Given the description of an element on the screen output the (x, y) to click on. 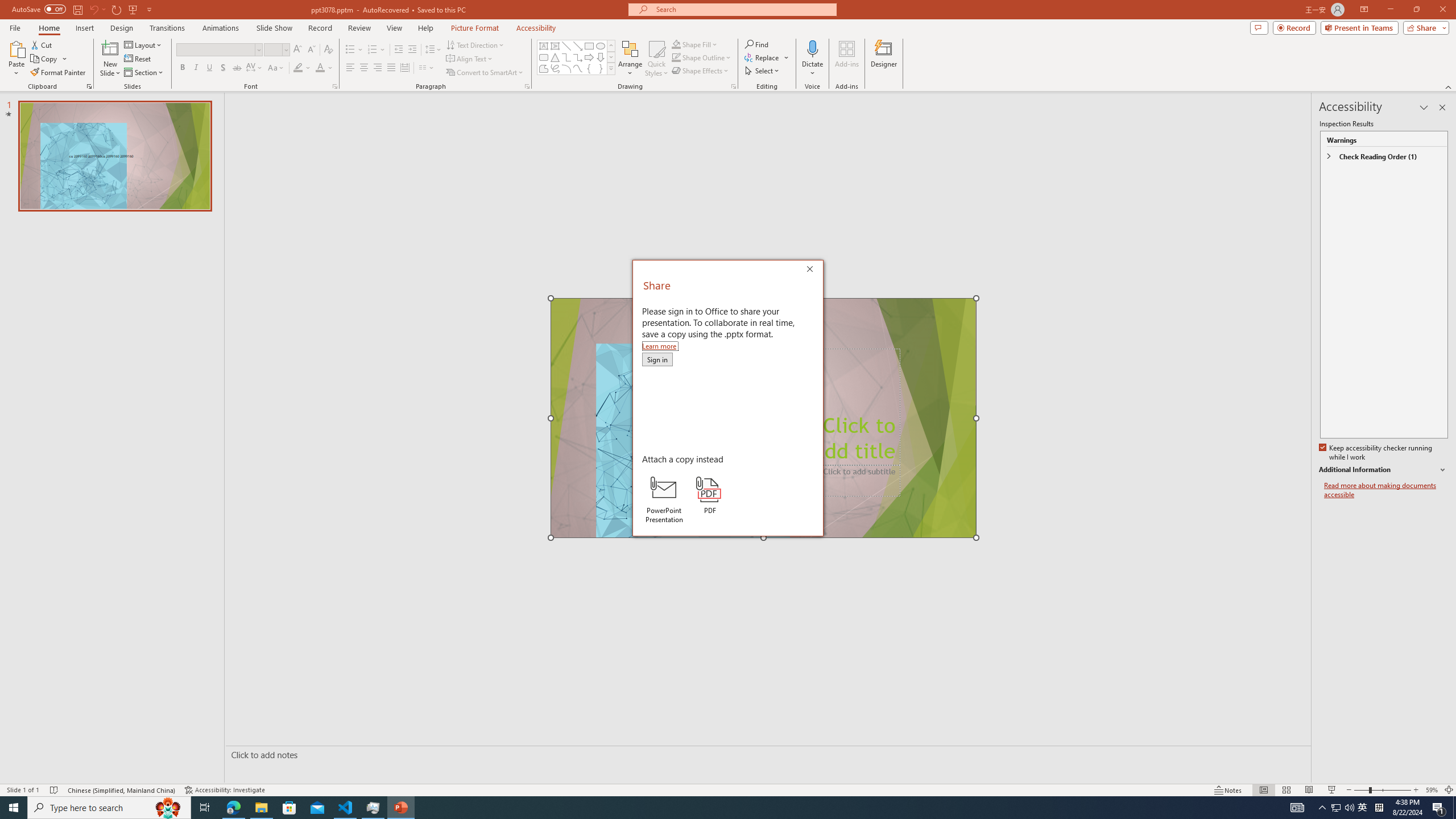
Freeform: Shape (543, 68)
Text Highlight Color (297, 67)
Align Text (470, 58)
Layout (143, 44)
AutomationID: ShapesInsertGallery (576, 57)
Shape Outline Green, Accent 1 (675, 56)
